Given the description of an element on the screen output the (x, y) to click on. 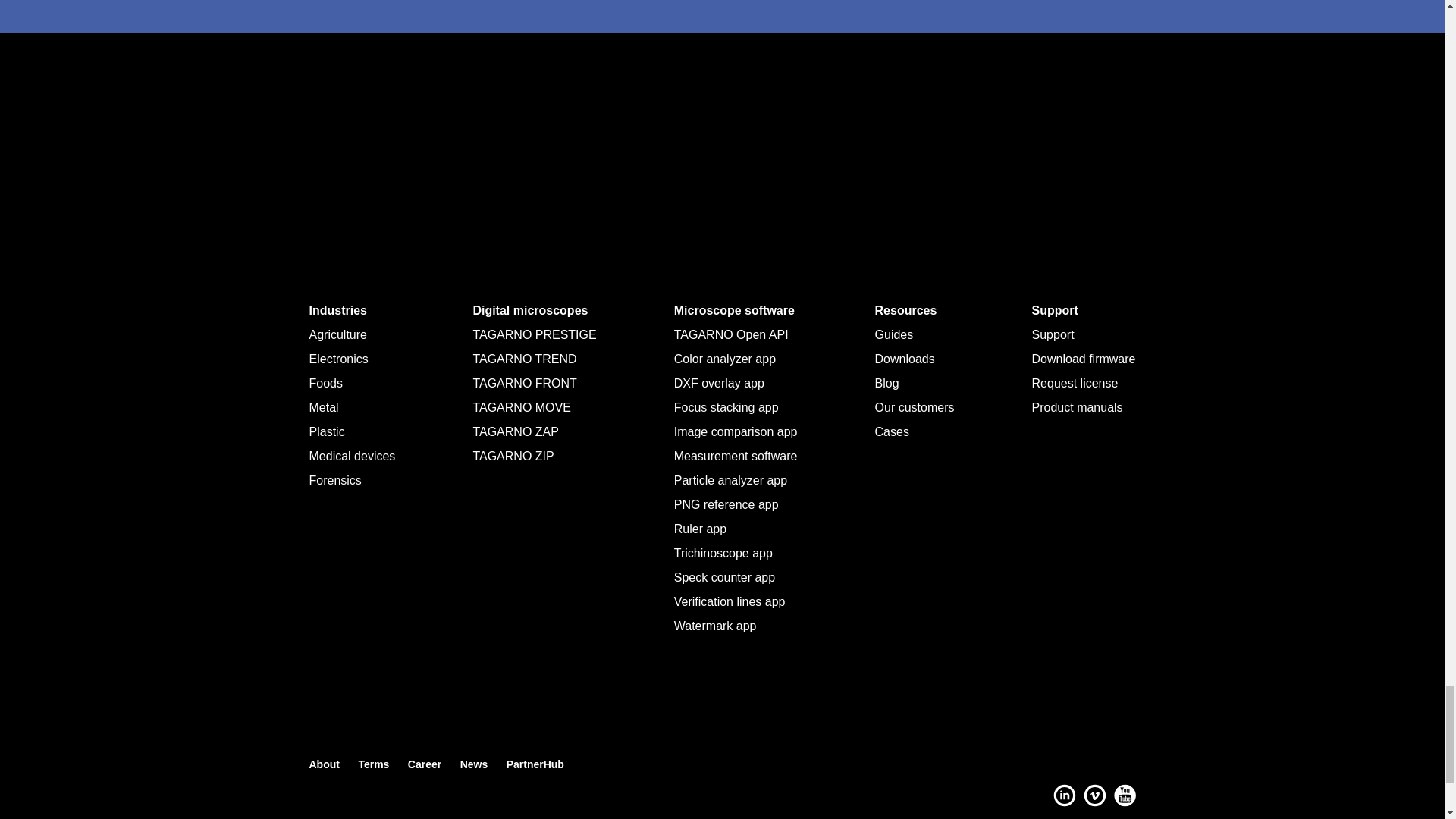
Follow us on LinkedIn (1063, 796)
See our videos on Vimeo (1094, 796)
